Given the description of an element on the screen output the (x, y) to click on. 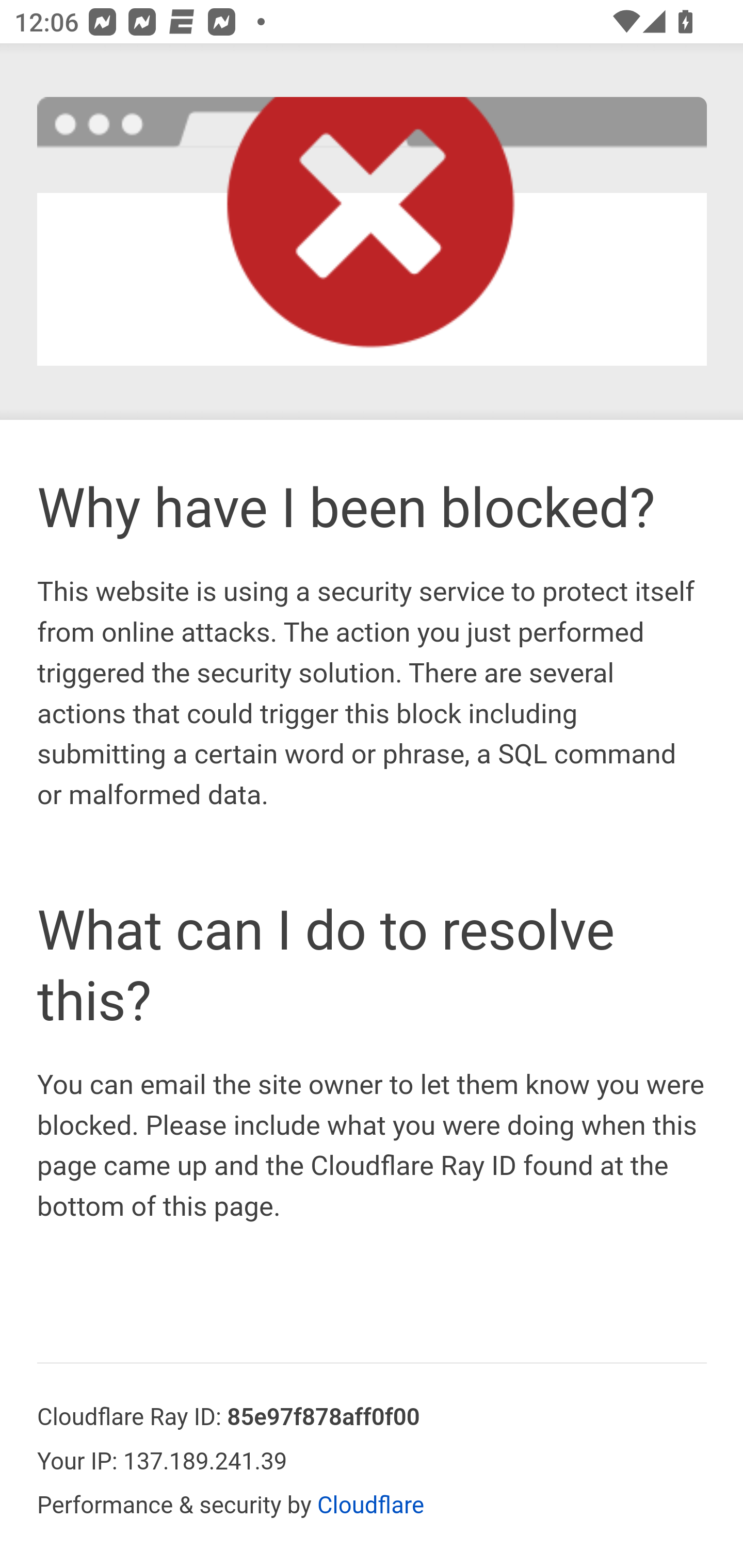
Cloudflare (370, 1506)
